Given the description of an element on the screen output the (x, y) to click on. 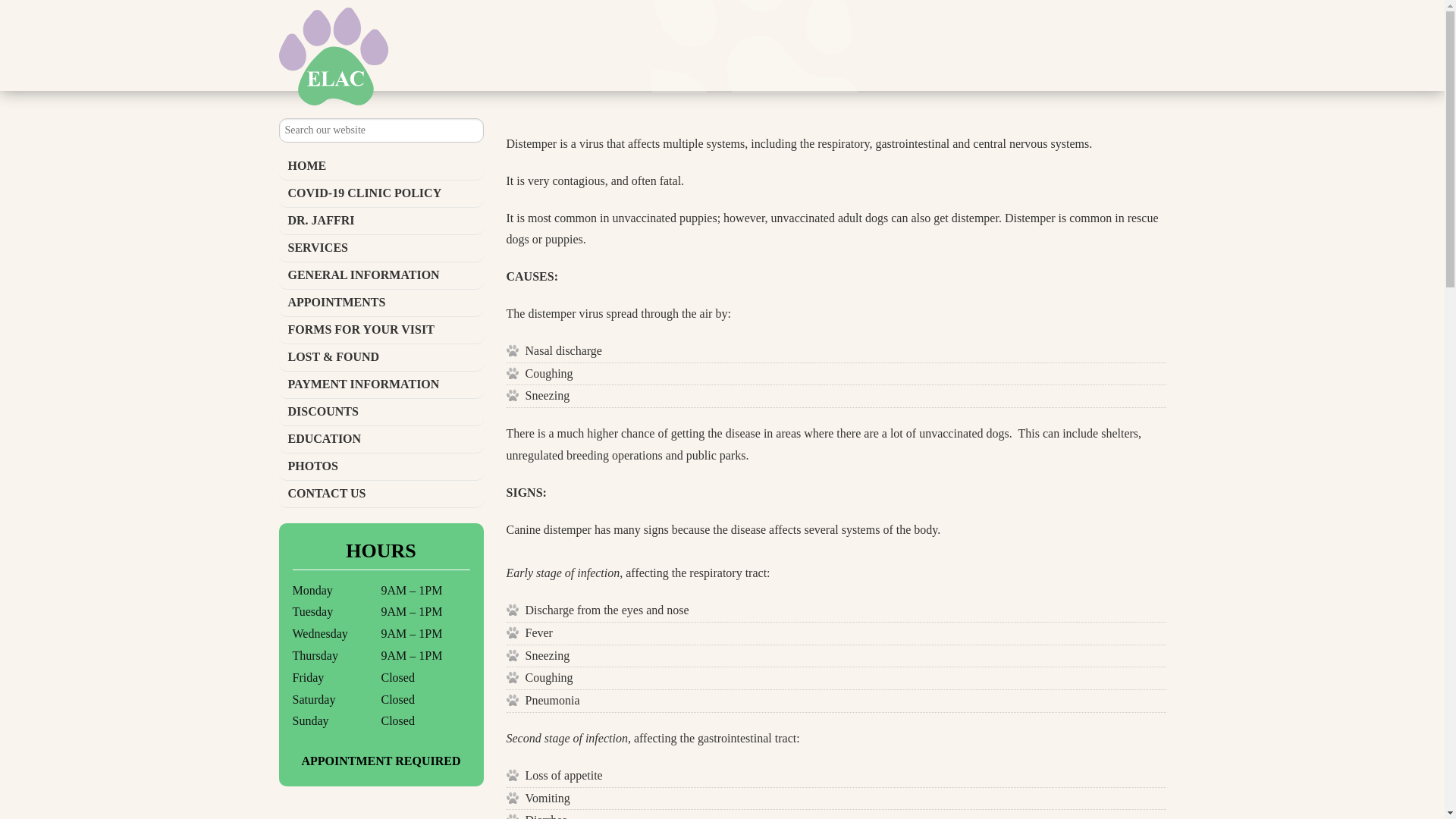
PHOTOS (381, 466)
APPOINTMENTS (381, 302)
DISCOUNTS (381, 411)
GENERAL INFORMATION (381, 275)
HOME (381, 166)
CONTACT US (381, 493)
PAYMENT INFORMATION (381, 384)
DR. JAFFRI (381, 221)
COVID-19 CLINIC POLICY (381, 194)
FORMS FOR YOUR VISIT (381, 329)
